Given the description of an element on the screen output the (x, y) to click on. 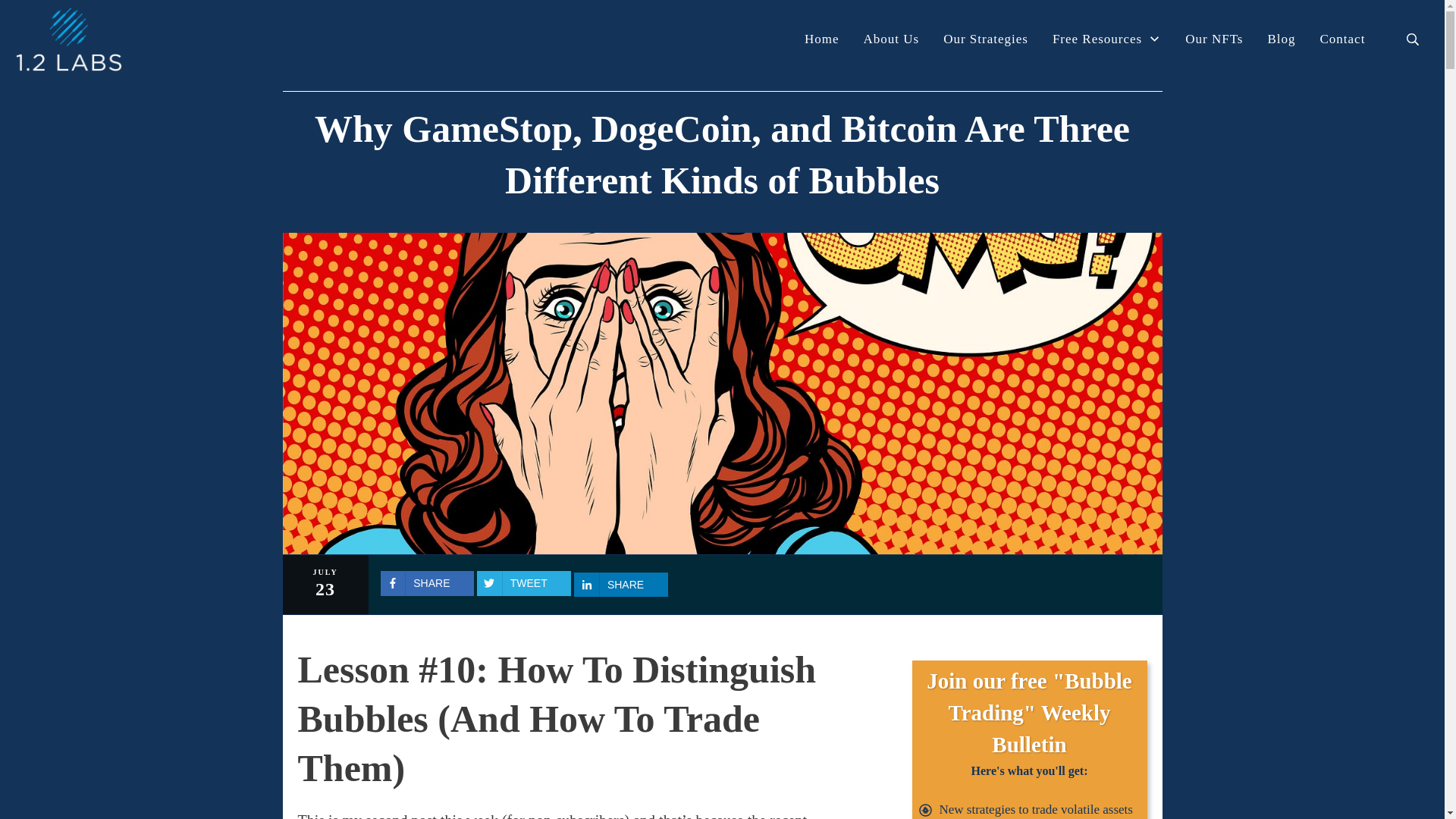
Free Resources (1106, 39)
Our NFTs (1214, 39)
Home (822, 39)
About Us (890, 39)
Our Strategies (985, 39)
Blog (1280, 39)
Contact (1342, 39)
